Given the description of an element on the screen output the (x, y) to click on. 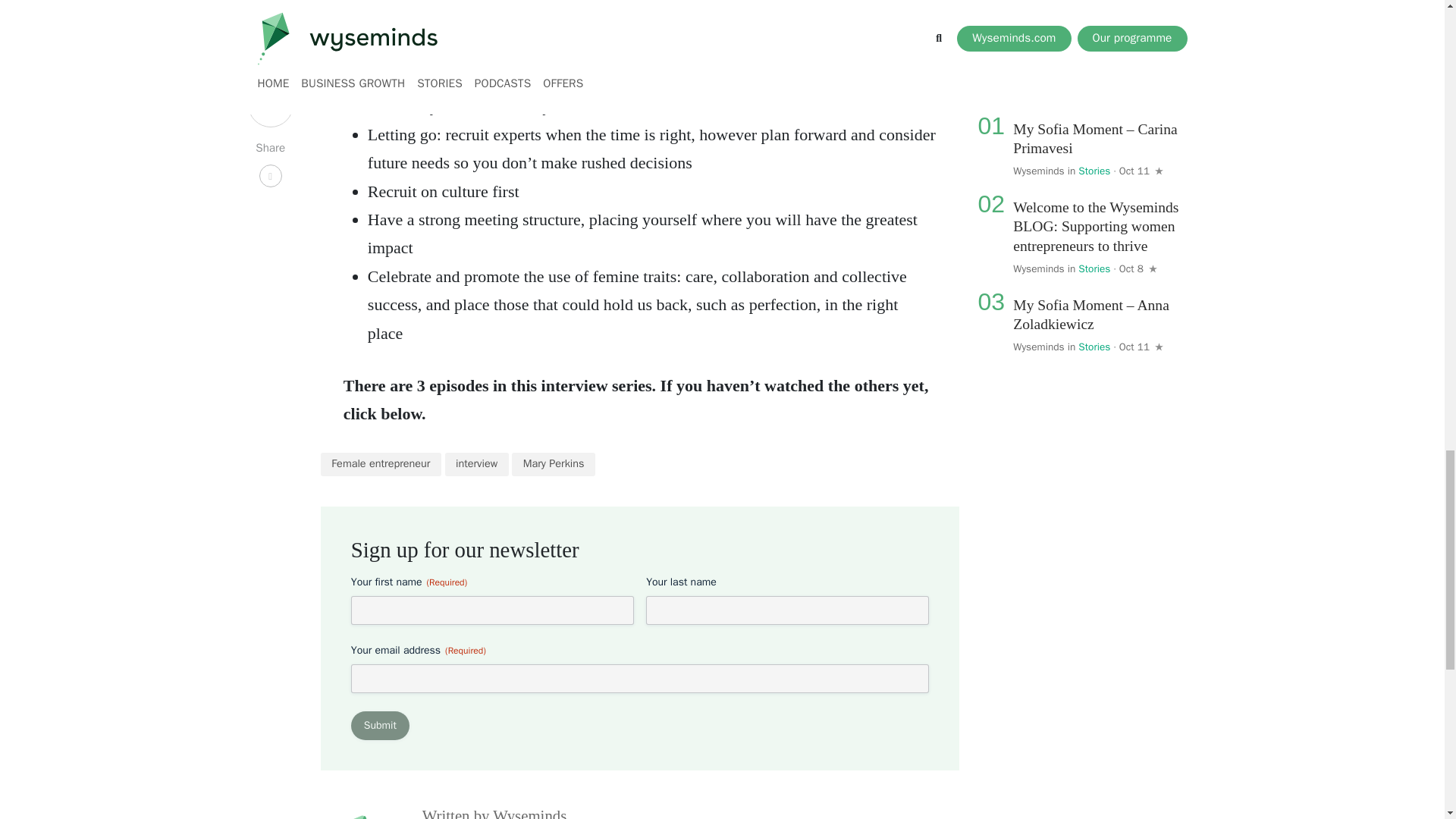
Written by Wyseminds (494, 812)
Female entrepreneur (380, 463)
interview (476, 463)
Submit (379, 725)
Mary Perkins (553, 463)
Submit (379, 725)
